Given the description of an element on the screen output the (x, y) to click on. 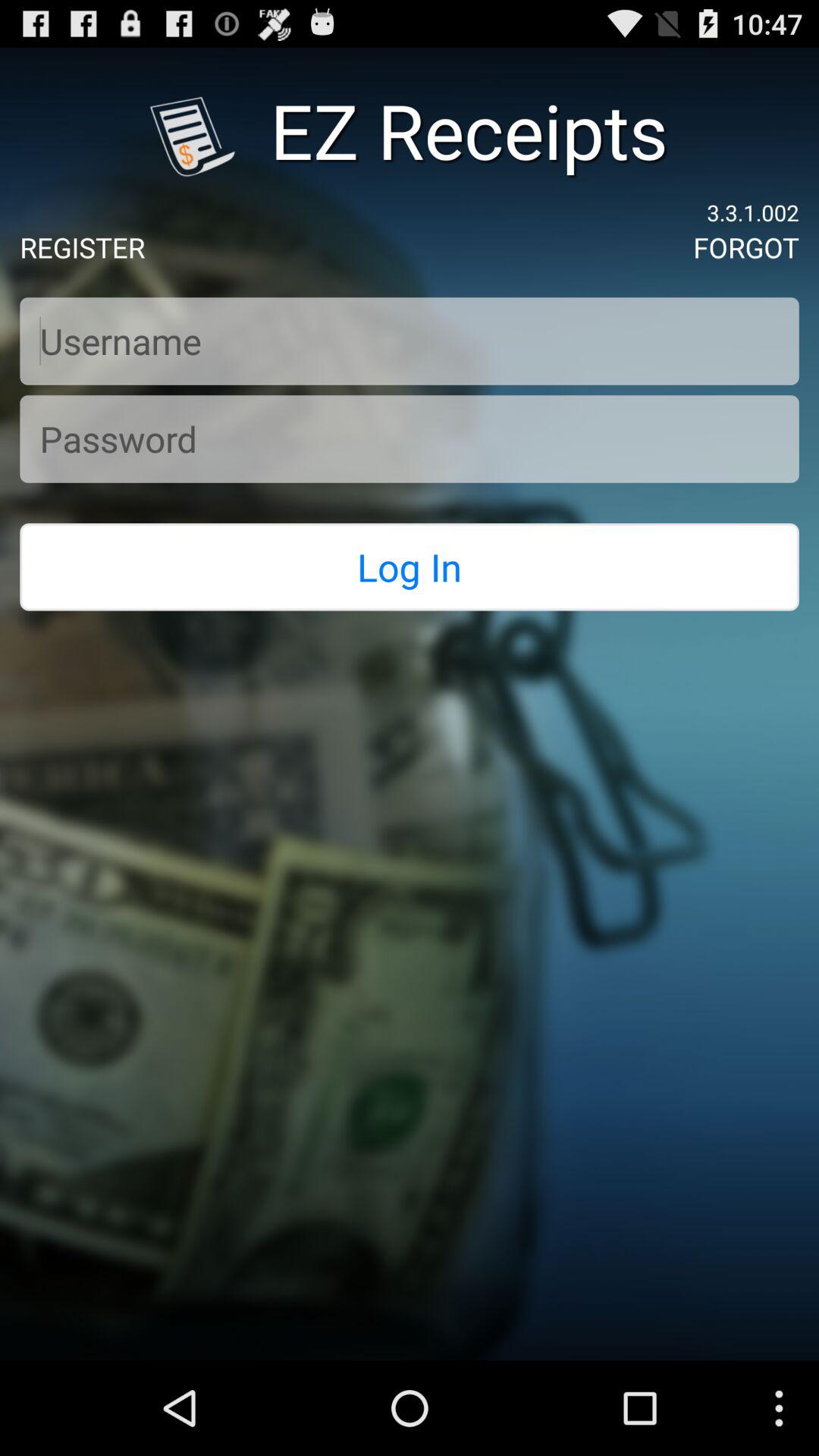
enter username to log in (409, 341)
